Given the description of an element on the screen output the (x, y) to click on. 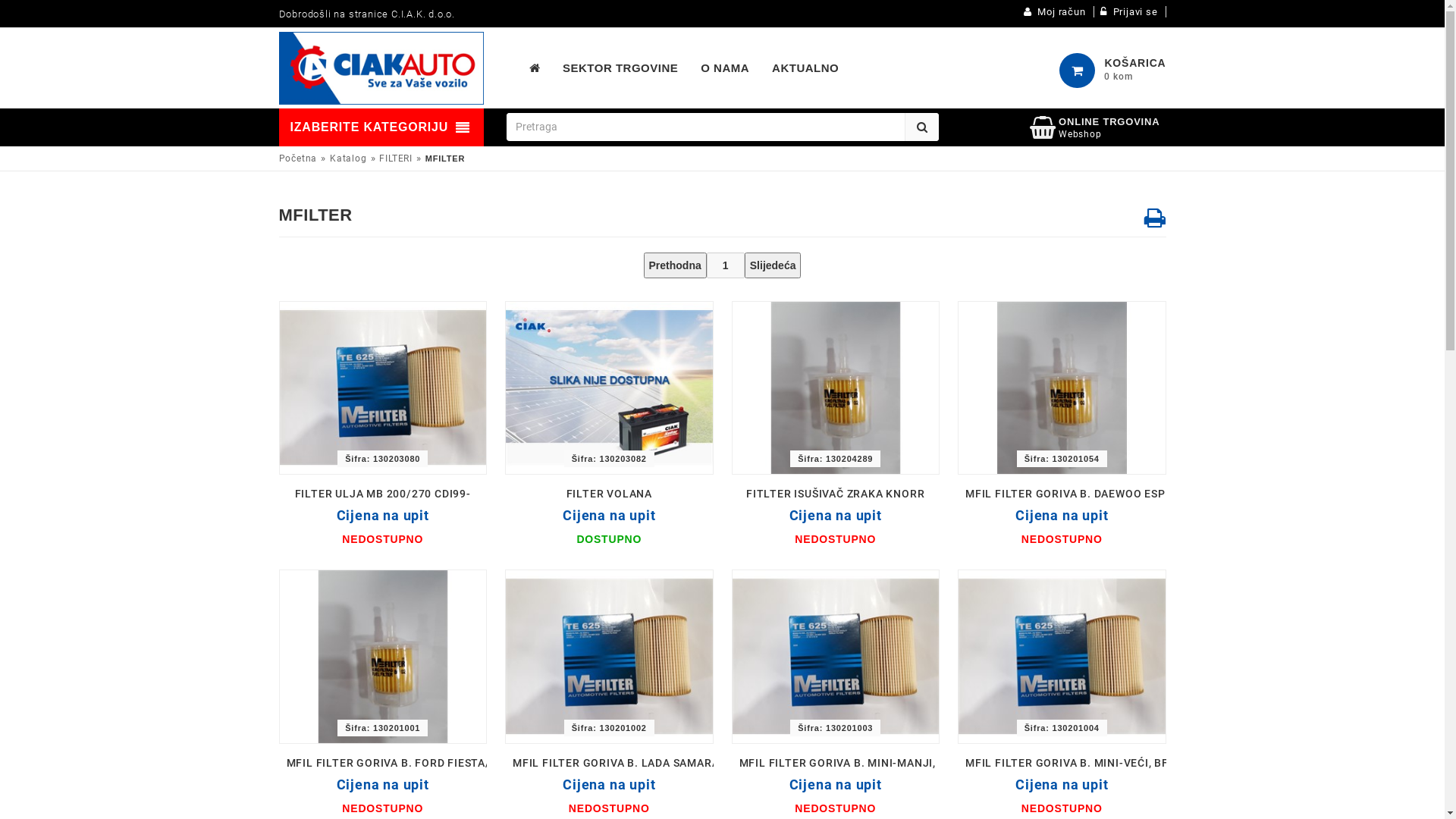
Katalog Element type: text (348, 158)
ISPIS PONUDE Element type: hover (1155, 217)
FILTER VOLANA Element type: text (608, 493)
FILTER ULJA MB 200/270 CDI99- Element type: hover (382, 387)
Prijavi se Element type: text (1129, 11)
MFIL FILTER GORIVA B. LADA SAMARA/NIVA 87-, BF10 Element type: hover (608, 656)
AKTUALNO Element type: text (804, 67)
FILTERI Element type: text (395, 158)
O NAMA Element type: text (724, 67)
SEKTOR TRGOVINE Element type: text (619, 67)
MFIL FILTER GORIVA B. FORD FIESTA/MAZDA 2 03-, BF673 Element type: text (443, 762)
MFIL FILTER GORIVA B. MINI-MANJI, BF01 Element type: hover (835, 656)
FILTER ULJA MB 200/270 CDI99- Element type: text (382, 493)
MFIL FILTER GORIVA B. LADA SAMARA/NIVA 87-, BF10 Element type: text (658, 762)
MFIL FILTER GORIVA B. DAEWOO ESPERO, NEXIA, BF09 Element type: text (1111, 493)
MFIL FILTER GORIVA B. FORD FIESTA/MAZDA 2 03-, BF673 Element type: hover (382, 656)
MFIL FILTER GORIVA B. MINI-MANJI, BF01 Element type: text (851, 762)
e-commerce Element type: hover (381, 67)
FILTER VOLANA Element type: hover (608, 387)
MFIL FILTER GORIVA B. DAEWOO ESPERO, NEXIA, BF09 Element type: hover (1061, 387)
